Given the description of an element on the screen output the (x, y) to click on. 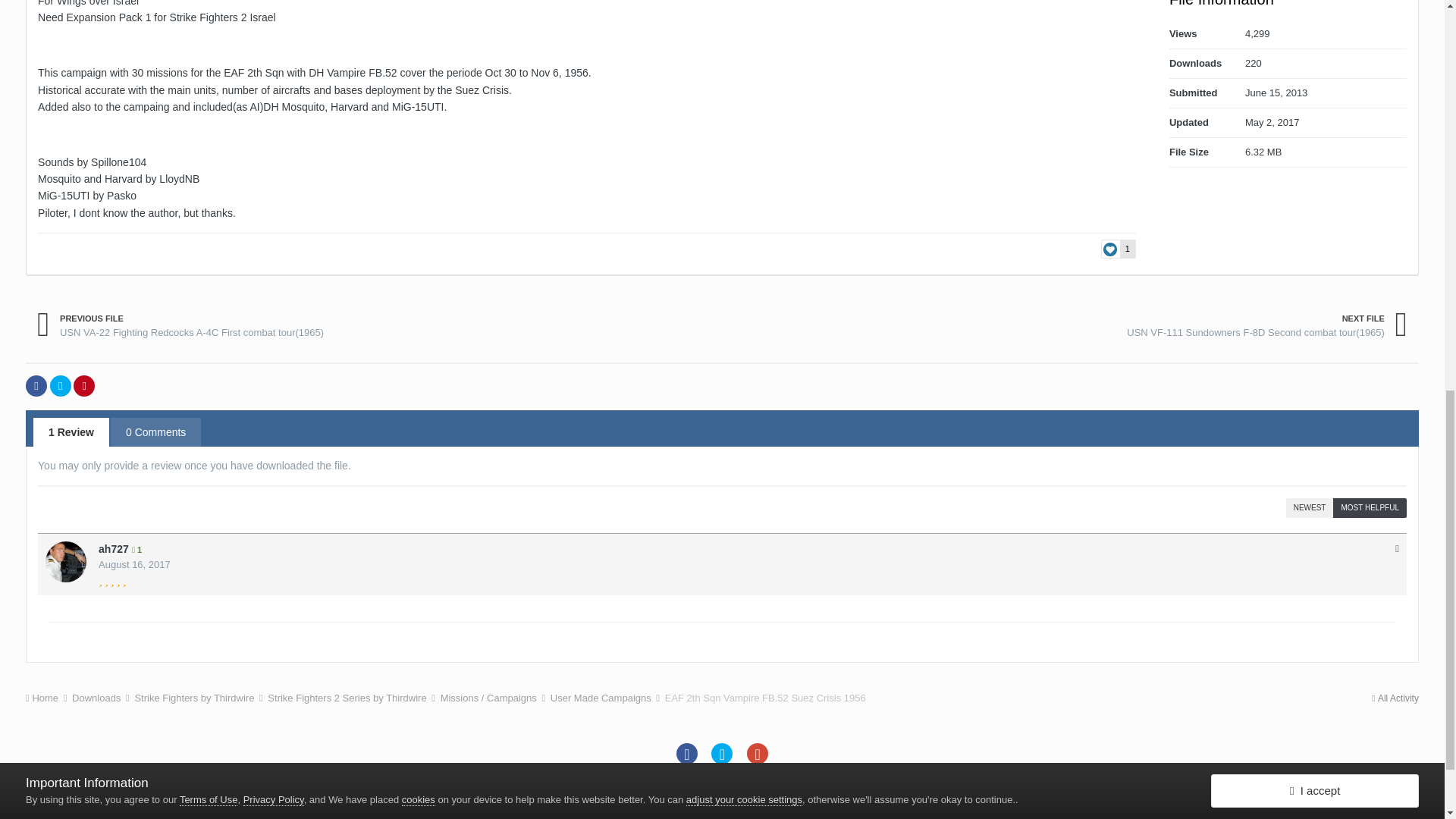
Like (1118, 248)
Share on Facebook (36, 385)
Next File (1266, 325)
Previous File (180, 325)
